Given the description of an element on the screen output the (x, y) to click on. 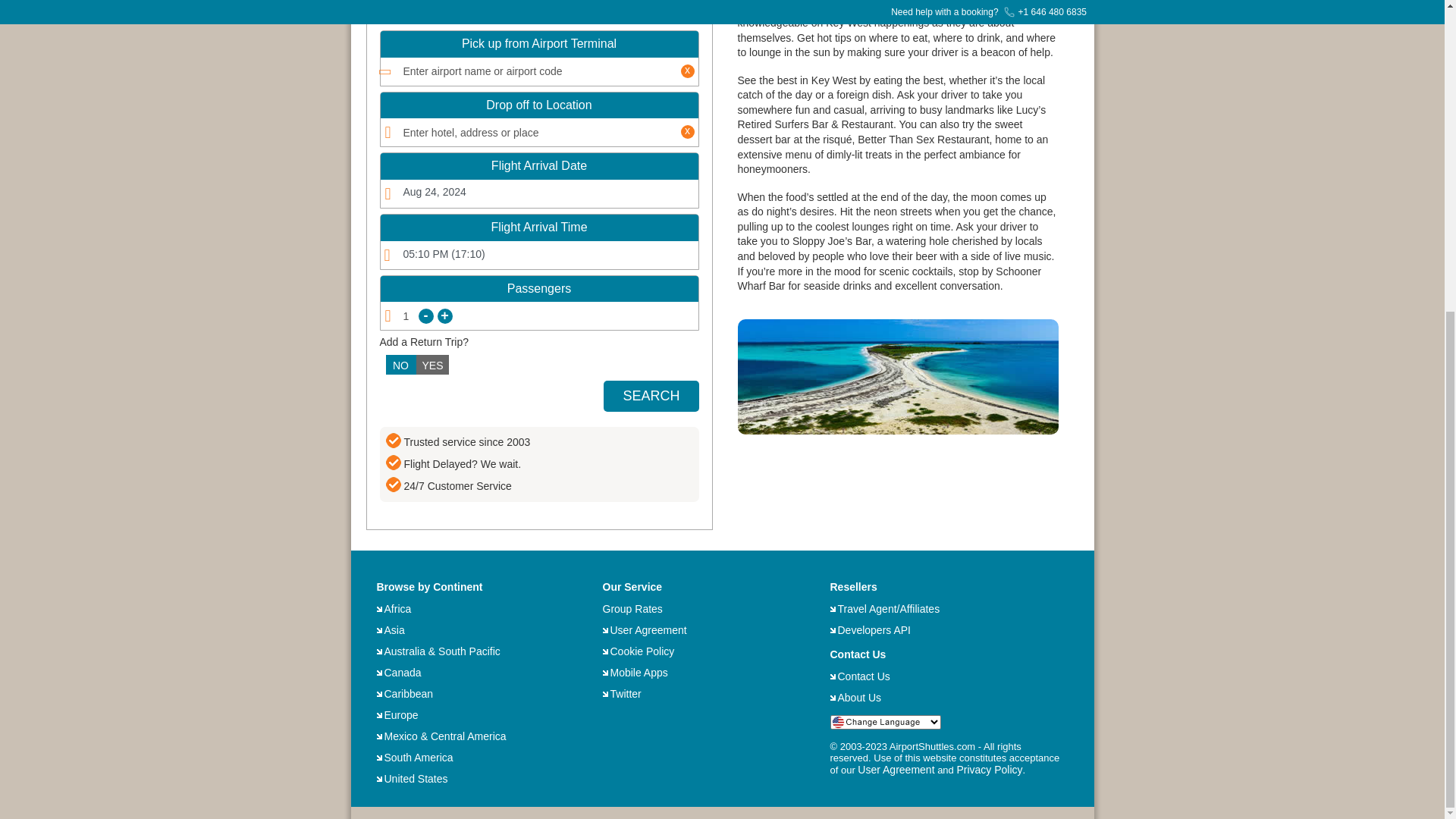
Africa (397, 608)
1 (539, 316)
2024-08-24 (539, 193)
17:10 (539, 255)
Canada (402, 672)
From Airport (498, 10)
To Airport (588, 10)
SEARCH (651, 395)
Caribbean (408, 693)
Asia (394, 630)
